Given the description of an element on the screen output the (x, y) to click on. 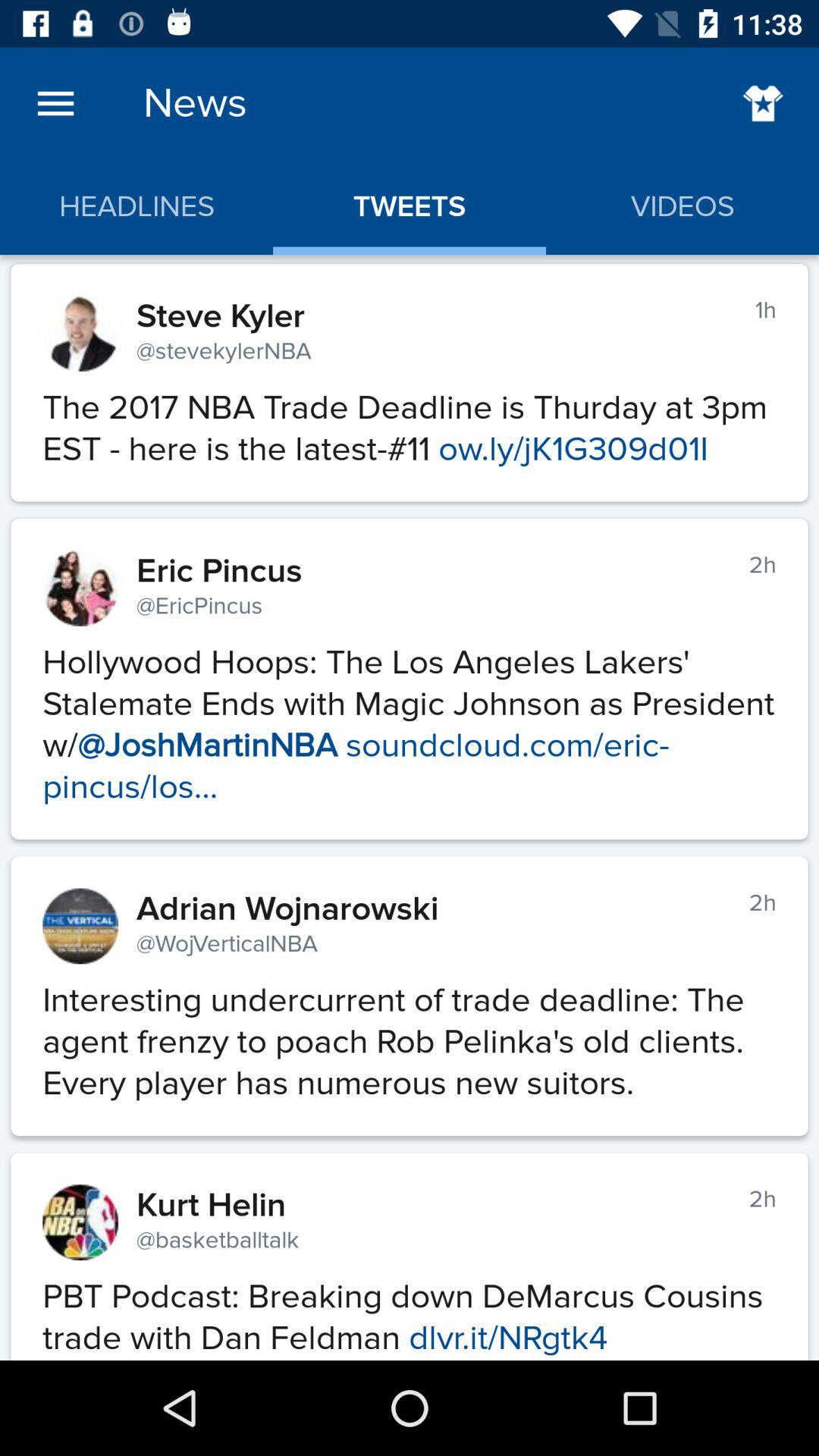
tap item next to tweets item (763, 103)
